Given the description of an element on the screen output the (x, y) to click on. 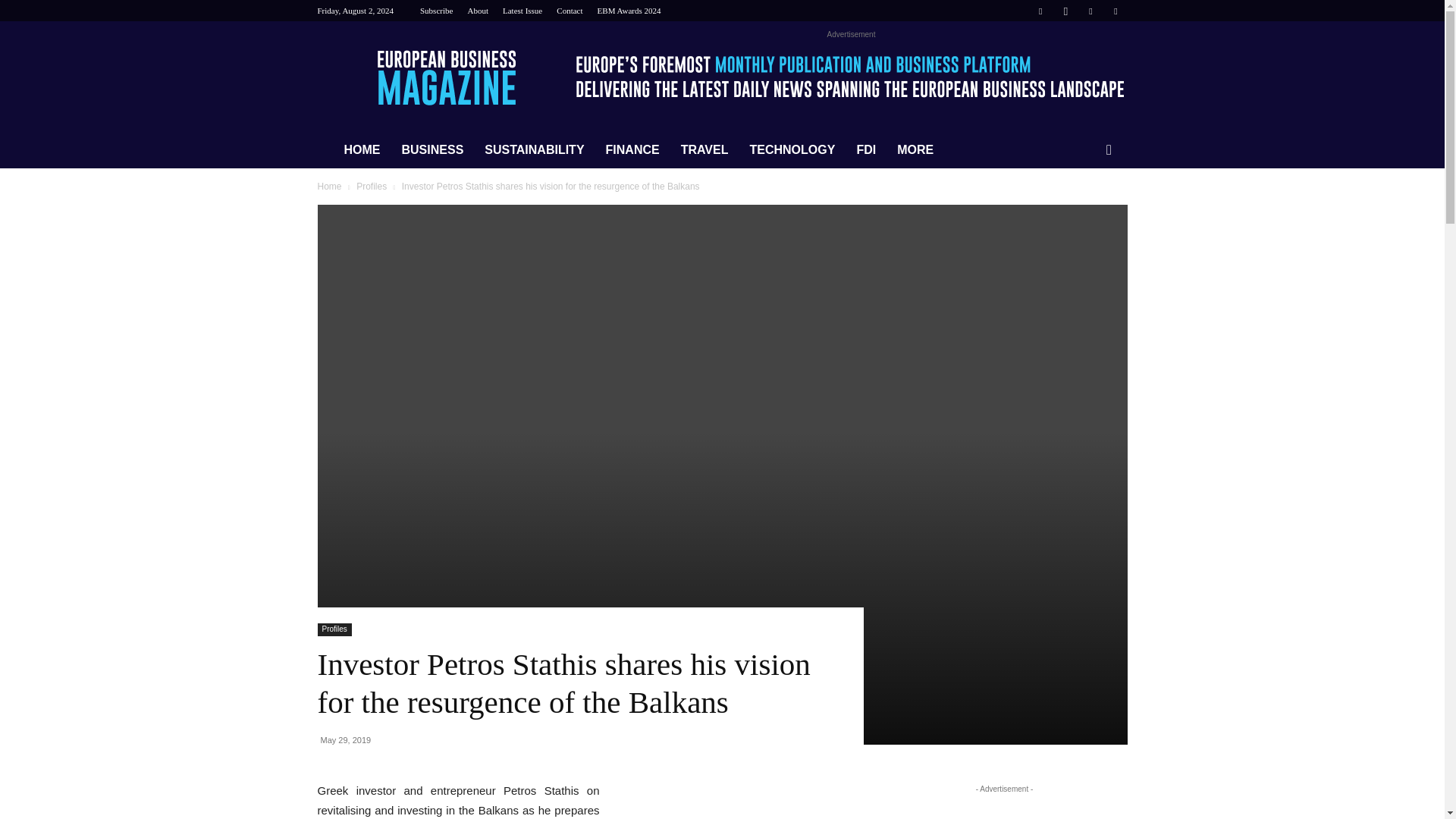
Subscribe (436, 10)
Latest Issue (521, 10)
HOME (362, 149)
Instagram (1065, 10)
Contact (569, 10)
Twitter (1114, 10)
EBM Awards 2024 (628, 10)
Facebook (1040, 10)
Linkedin (1090, 10)
BUSINESS (432, 149)
About (477, 10)
